Given the description of an element on the screen output the (x, y) to click on. 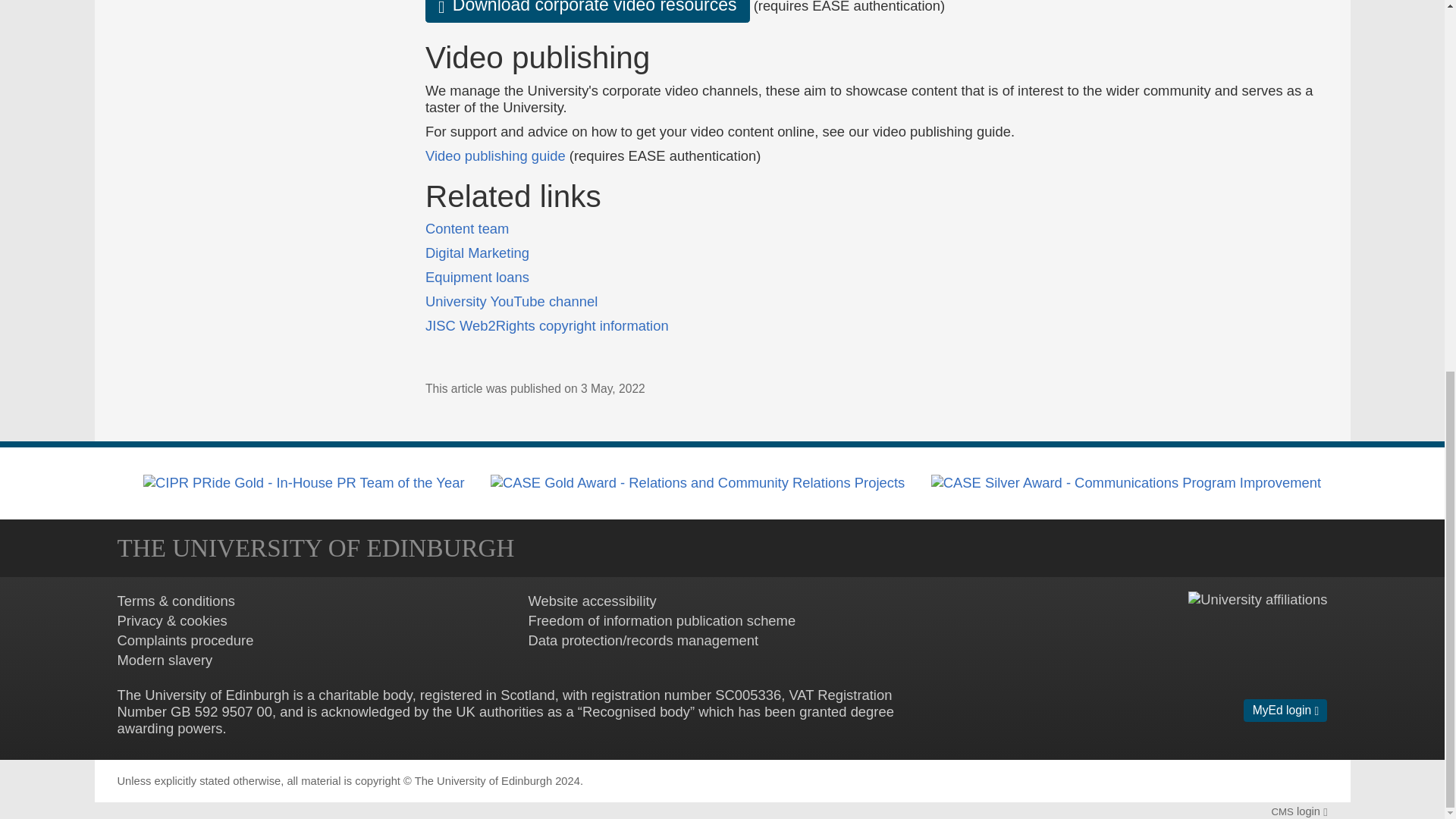
Modern slavery (164, 659)
Digital Marketing (477, 252)
JISC Web2Rights copyright information (546, 325)
Content (466, 228)
Recognised body (636, 711)
Content team (466, 228)
Equipment loans (477, 277)
MyEd login (1284, 710)
Freedom of information publication scheme (660, 620)
Website accessibility (591, 600)
